Given the description of an element on the screen output the (x, y) to click on. 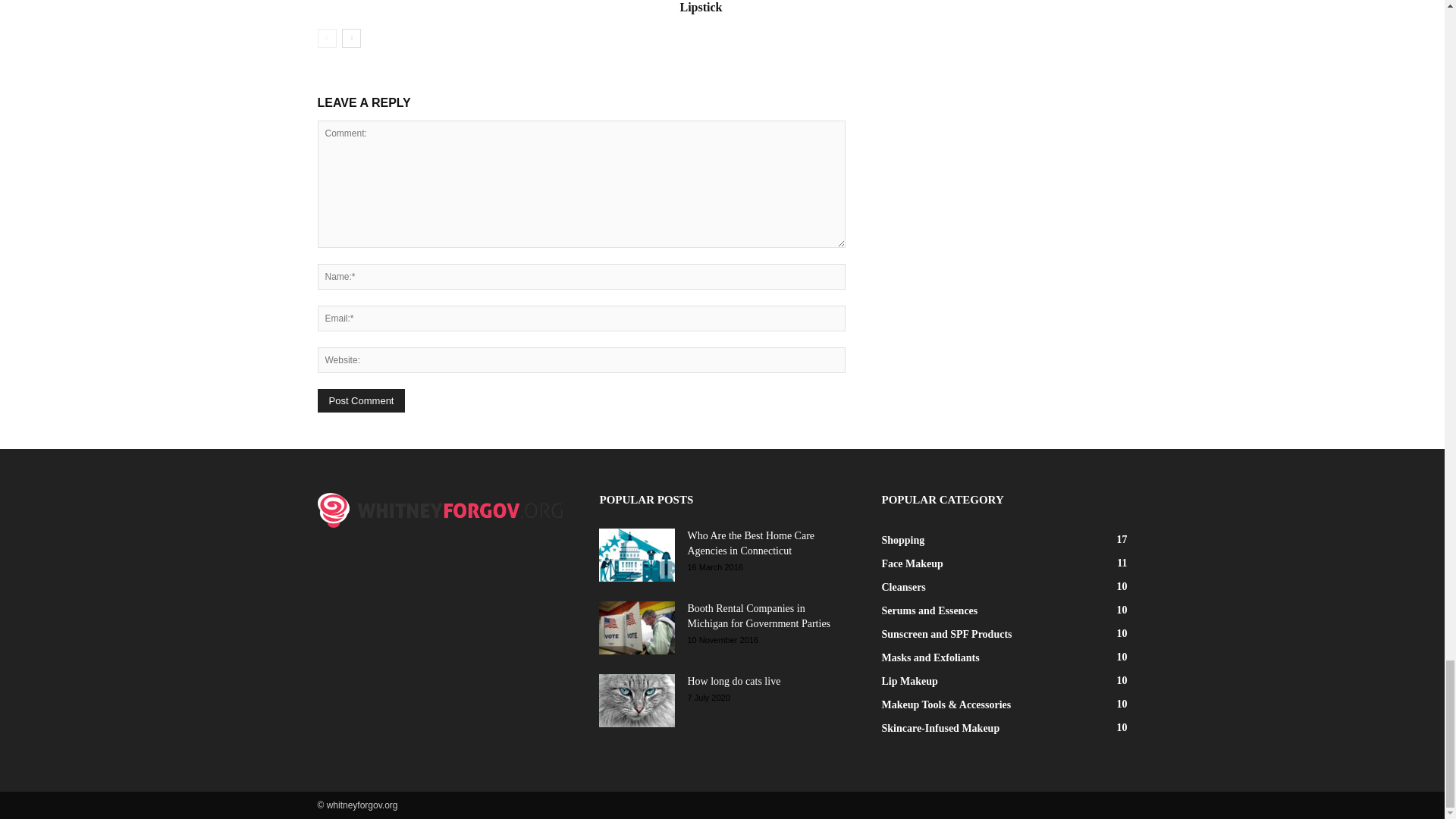
Post Comment (360, 400)
Lip Makeup: Long-Lasting Lipstick (750, 6)
